Given the description of an element on the screen output the (x, y) to click on. 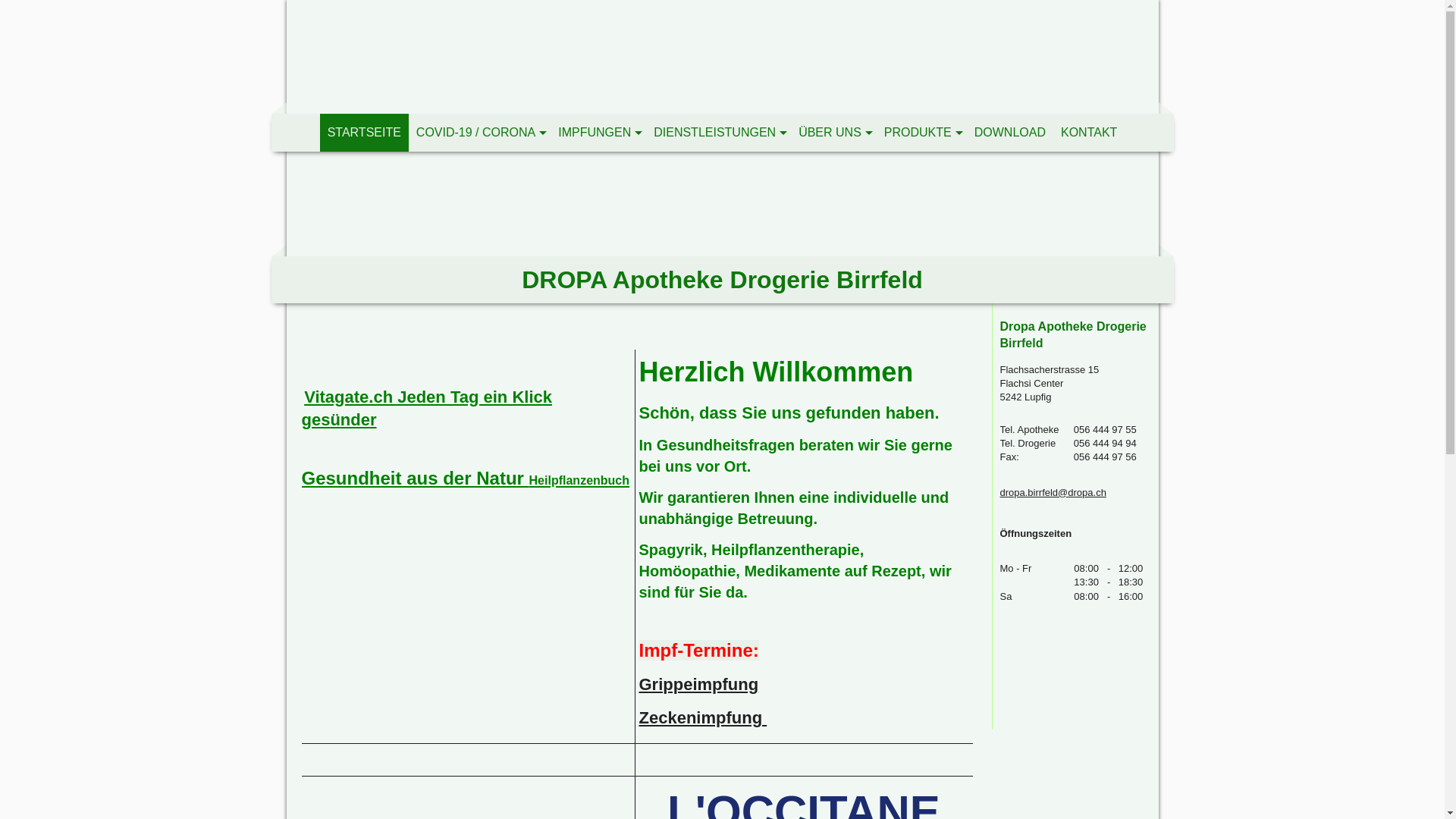
DIENSTLEISTUNGEN Element type: text (718, 132)
PRODUKTE Element type: text (921, 132)
KONTAKT Element type: text (1088, 132)
Zeckenimpfung  Element type: text (702, 717)
Gesundheit aus der Natur Heilpflanzenbuch Element type: text (465, 477)
DOWNLOAD Element type: text (1009, 132)
IMPFUNGEN Element type: text (598, 132)
dropa.birrfeld@dropa.ch Element type: text (1052, 492)
COVID-19 / CORONA Element type: text (479, 132)
STARTSEITE Element type: text (364, 132)
Grippeimpfung Element type: text (698, 683)
  Element type: text (722, 56)
